Given the description of an element on the screen output the (x, y) to click on. 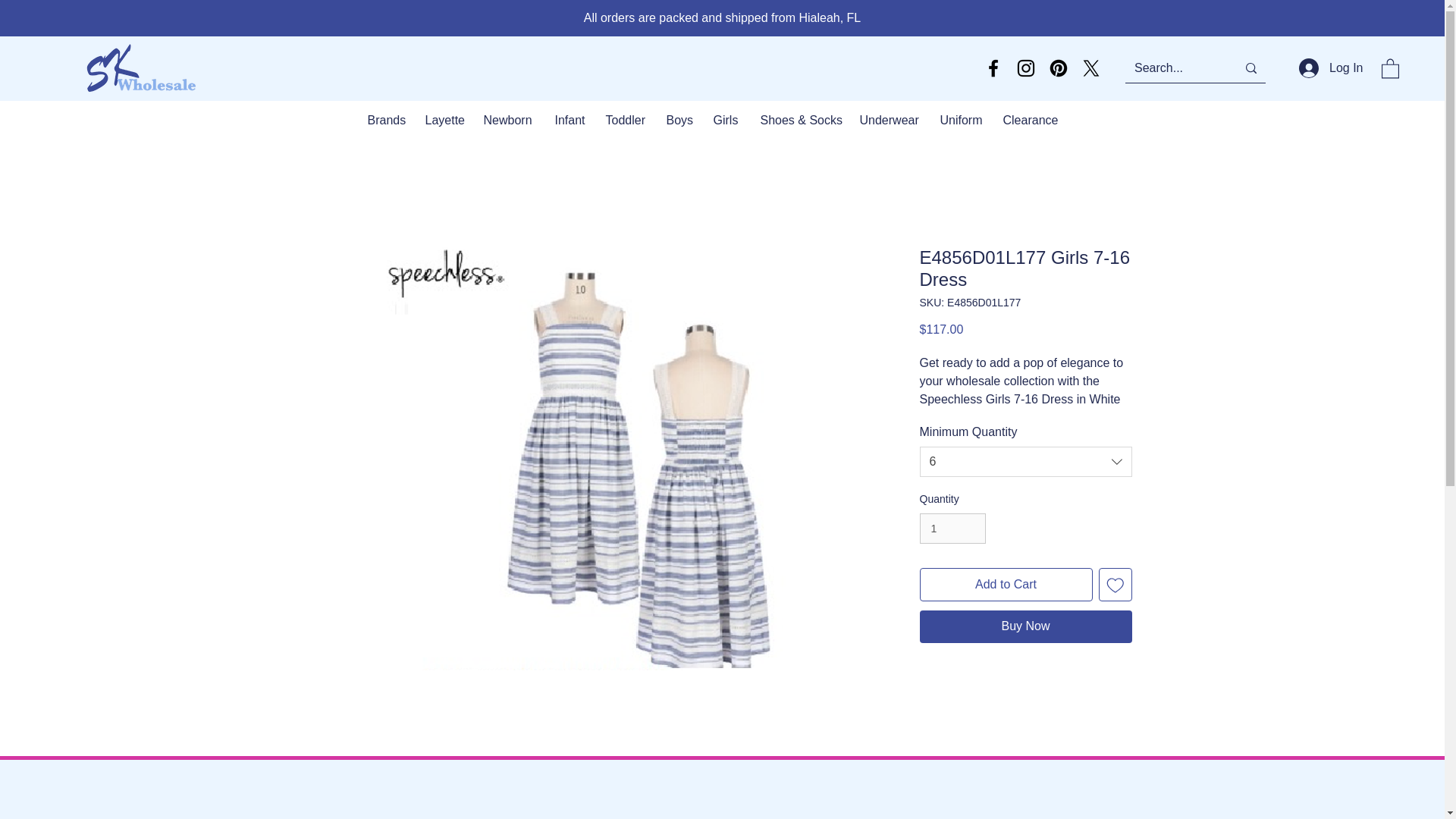
1 (951, 528)
Toddler (624, 120)
Infant (568, 120)
Layette (442, 120)
Newborn (507, 120)
Log In (1328, 68)
Brands (384, 120)
